Given the description of an element on the screen output the (x, y) to click on. 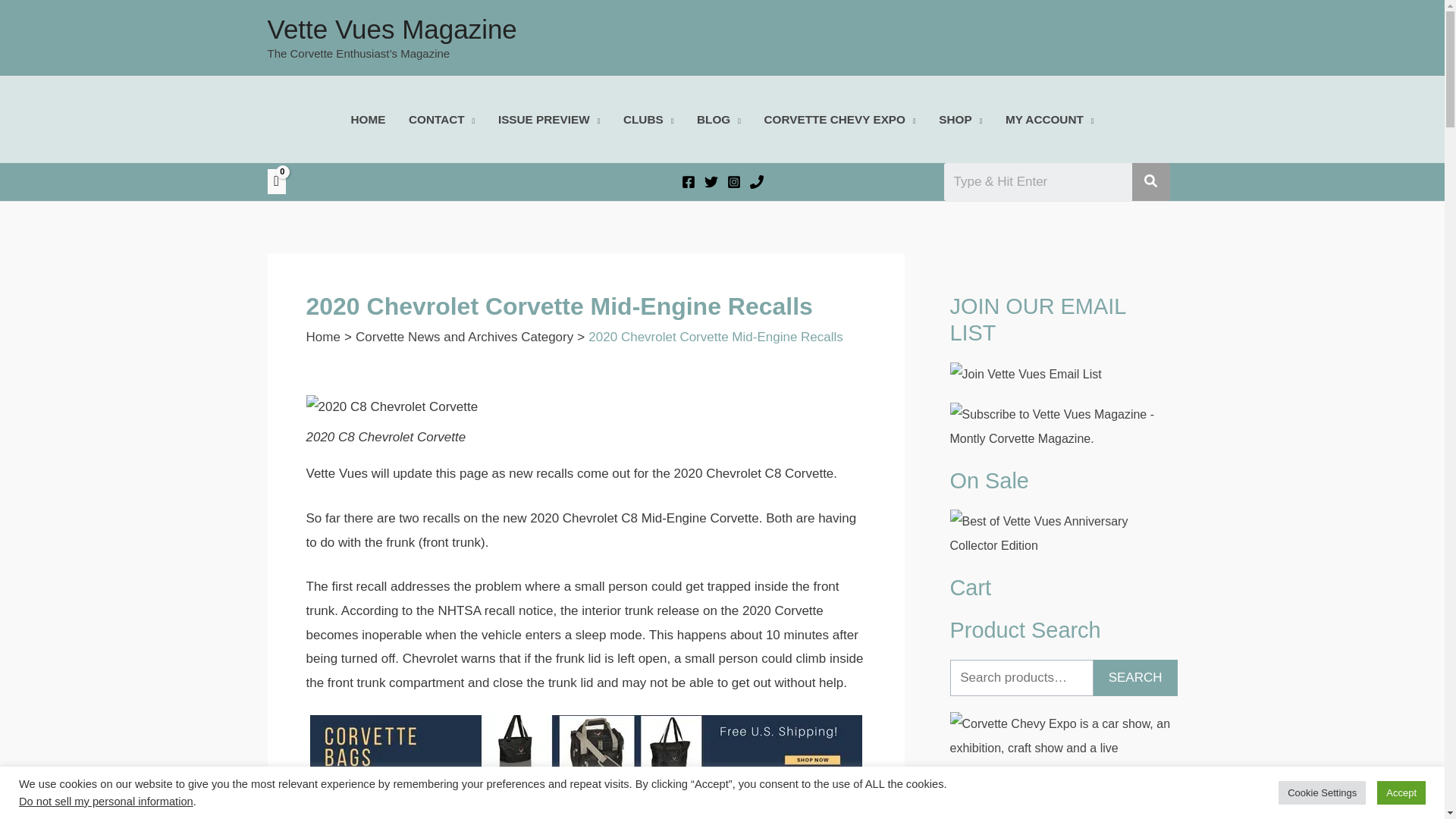
CONTACT (441, 119)
ISSUE PREVIEW (548, 119)
Search (1037, 181)
BLOG (718, 119)
HOME (368, 119)
CLUBS (648, 119)
Vette Vues Magazine (391, 29)
